Given the description of an element on the screen output the (x, y) to click on. 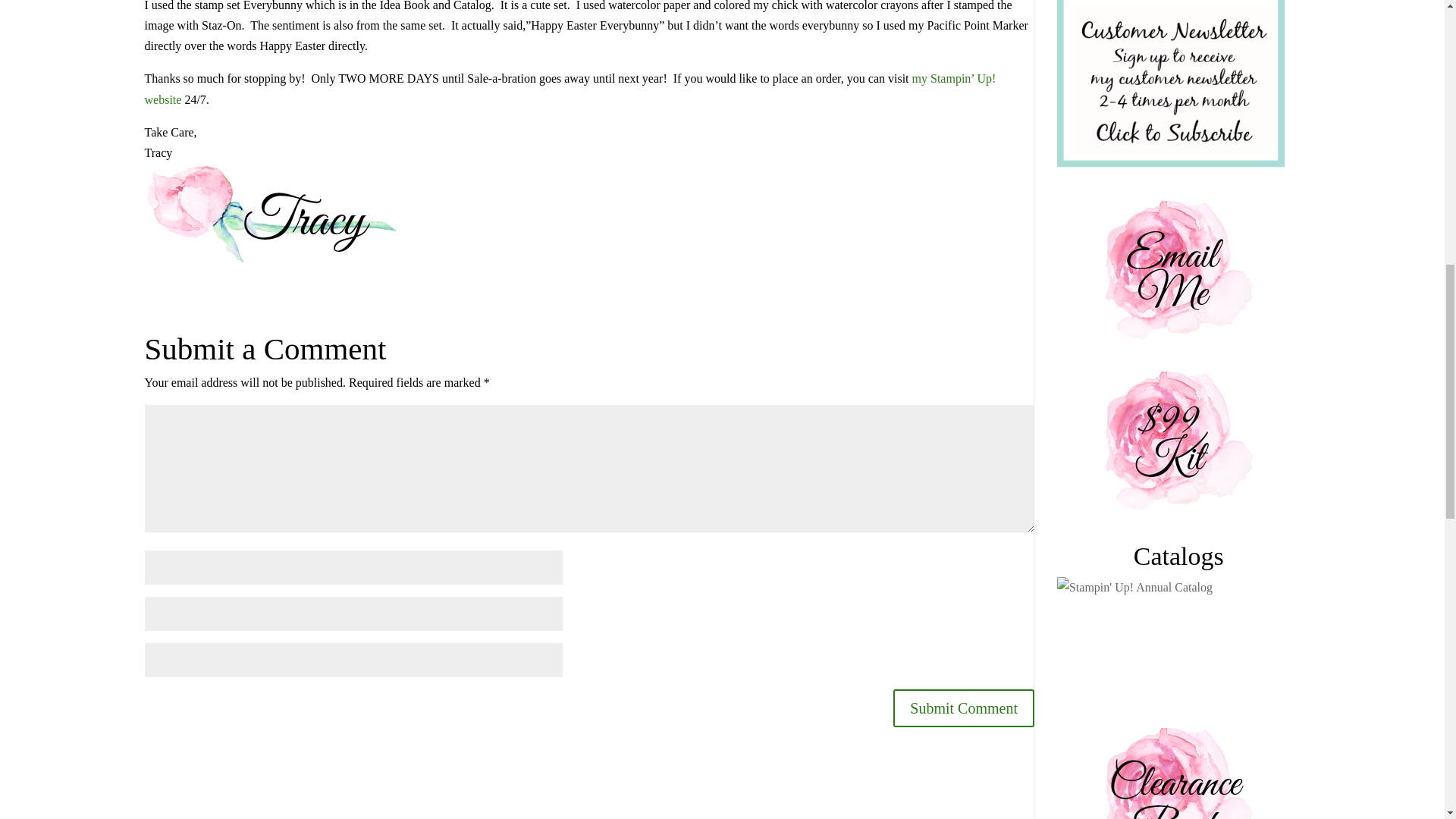
Submit Comment (963, 708)
Submit Comment (963, 708)
